Given the description of an element on the screen output the (x, y) to click on. 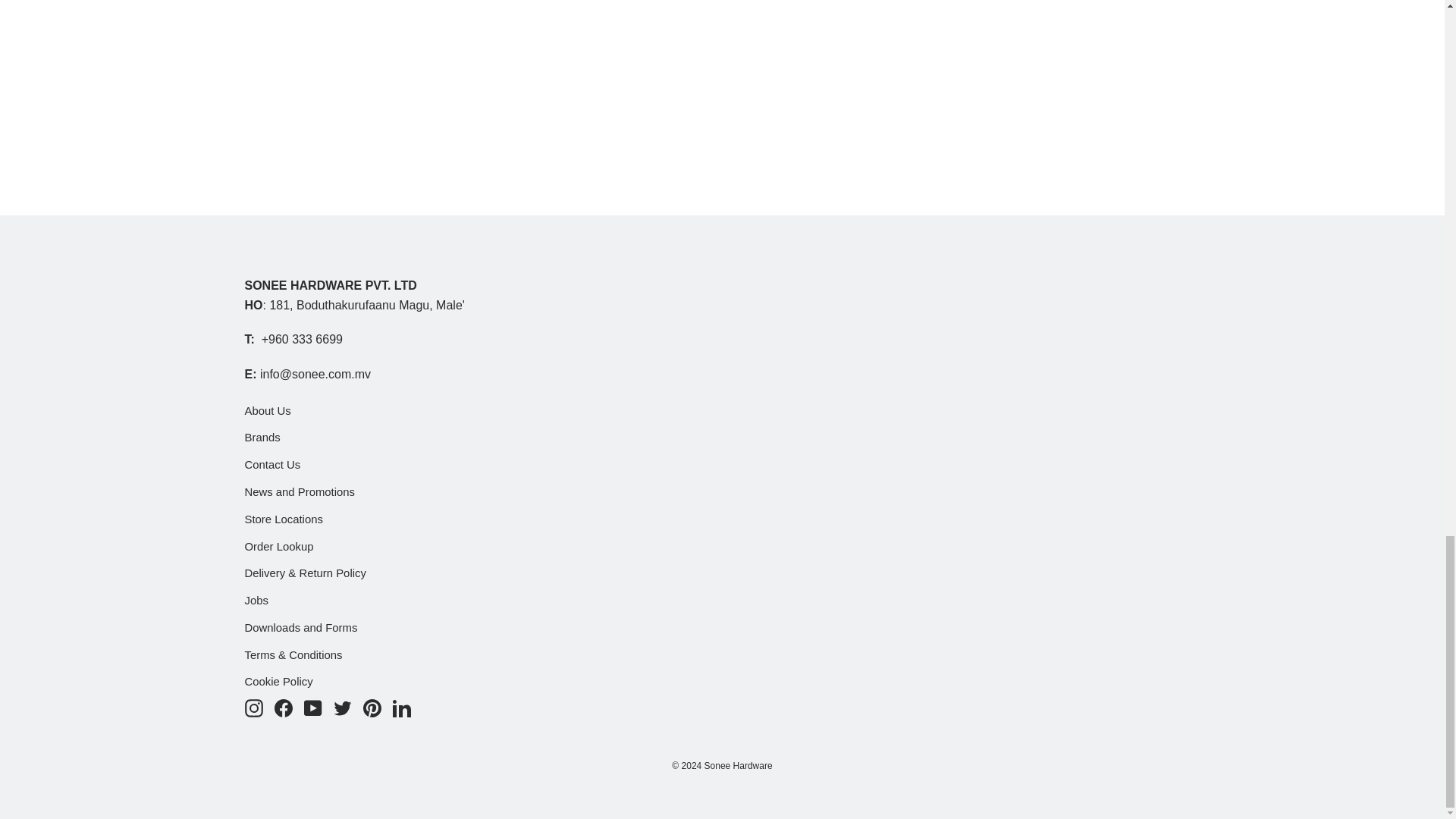
Sonee Hardware on Facebook (283, 707)
Sonee Hardware on LinkedIn (401, 707)
Sonee Hardware on YouTube (311, 707)
Sonee Hardware on Instagram (253, 707)
Sonee Hardware on Twitter (342, 707)
instagram (253, 708)
Sonee Hardware on Pinterest (371, 707)
twitter (342, 708)
